Given the description of an element on the screen output the (x, y) to click on. 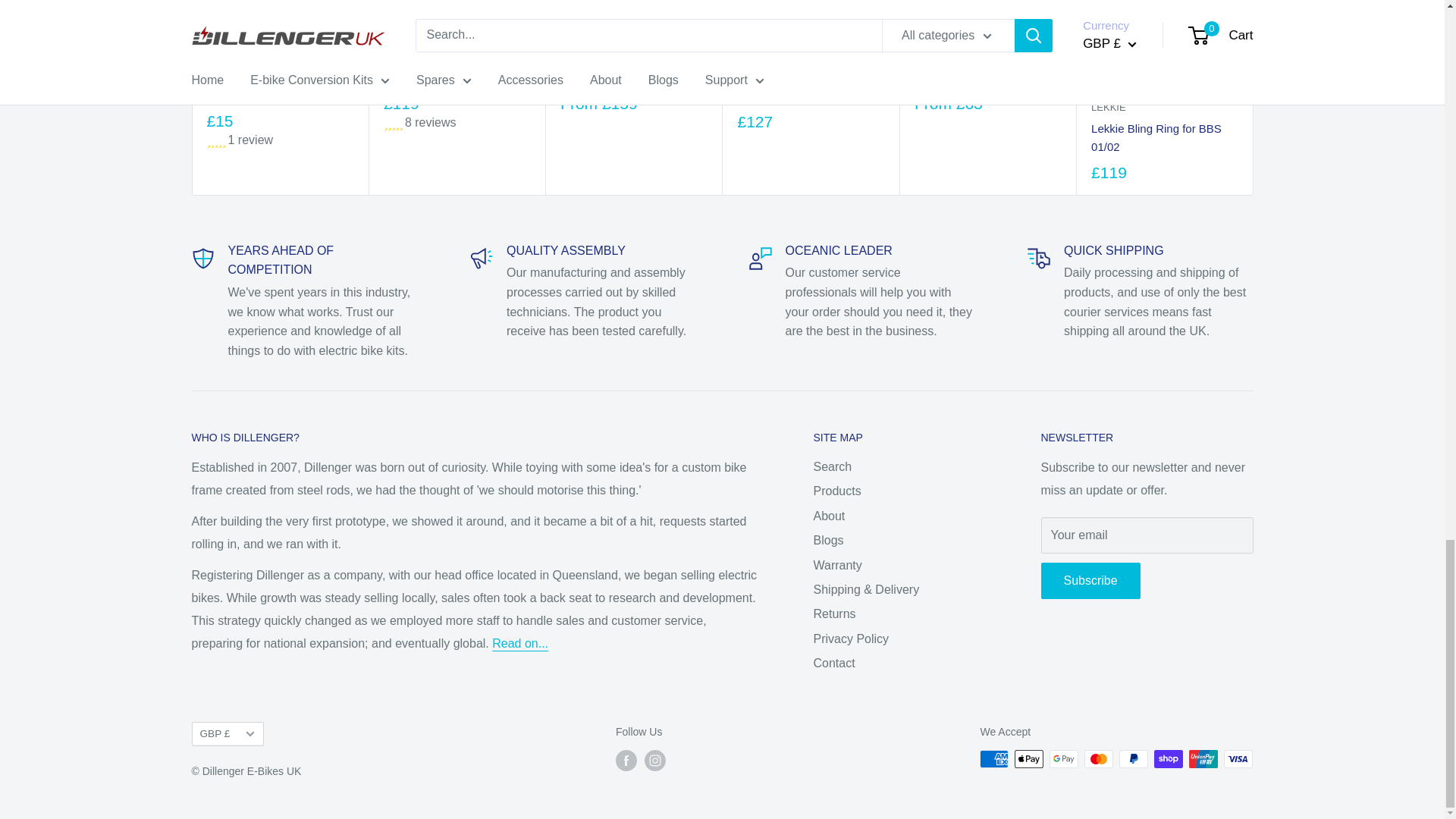
About Us (520, 643)
